Given the description of an element on the screen output the (x, y) to click on. 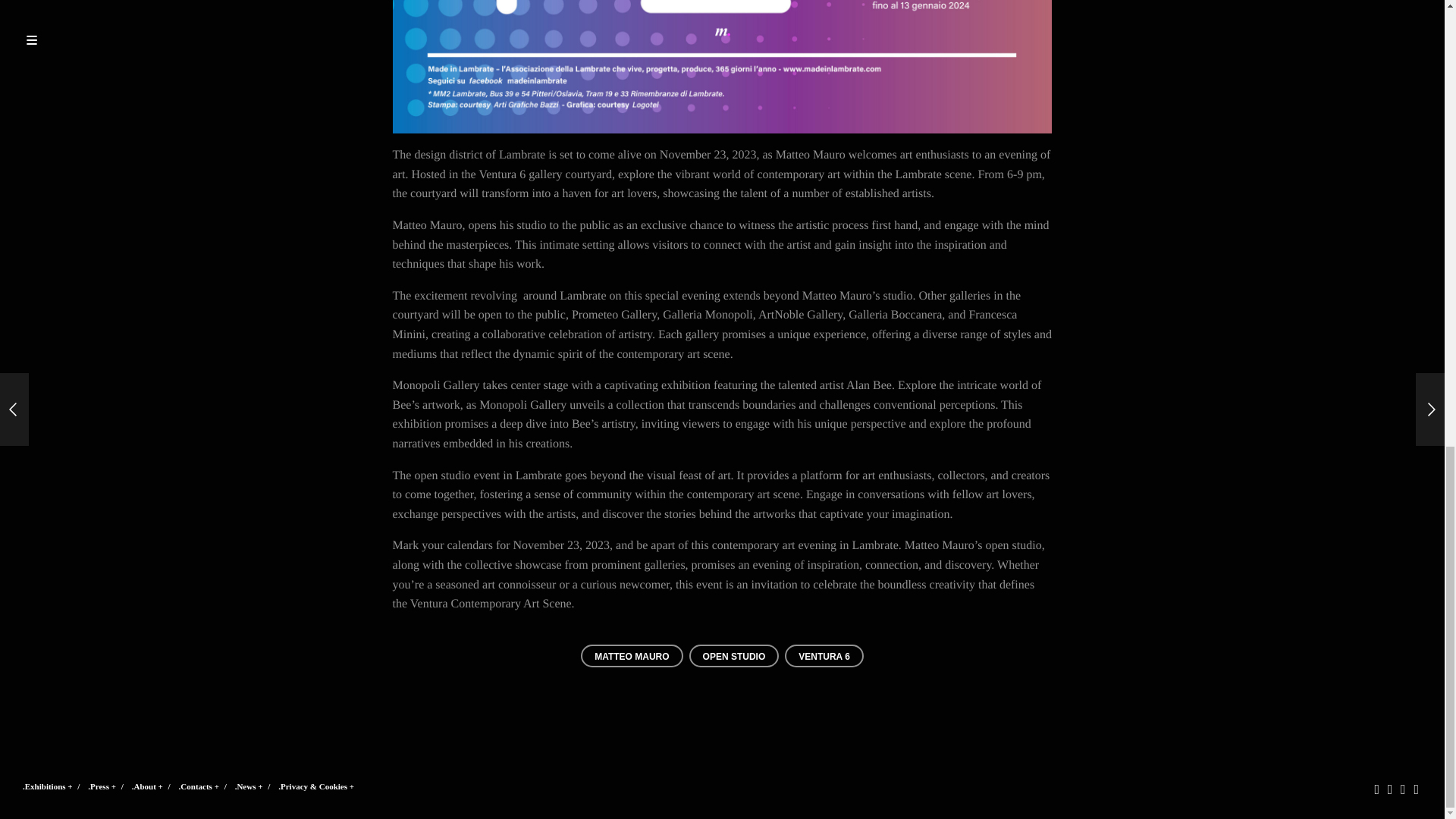
OPEN STUDIO (733, 655)
MATTEO MAURO (631, 655)
VENTURA 6 (823, 655)
